Given the description of an element on the screen output the (x, y) to click on. 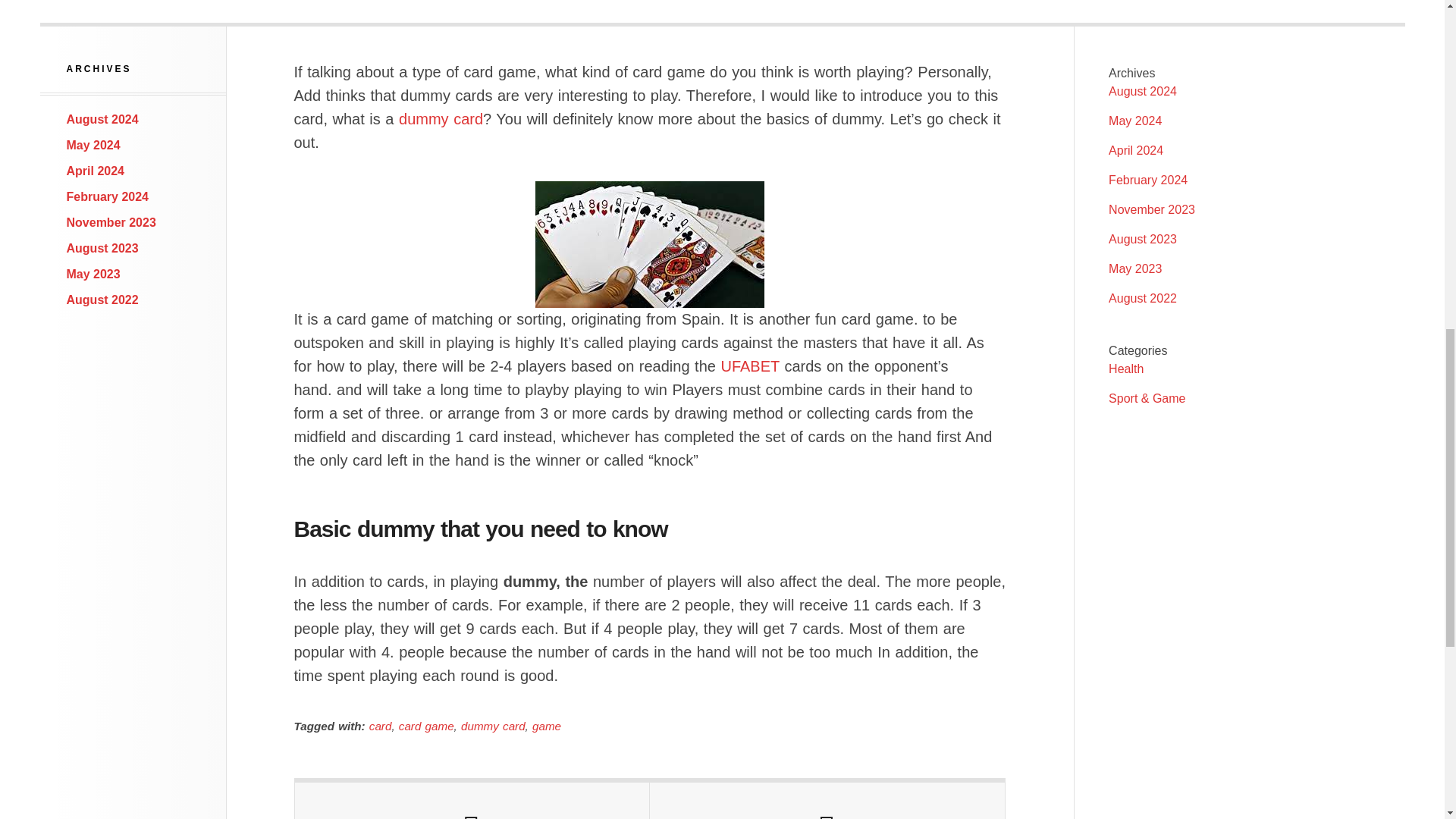
Previous Post (471, 800)
May 2023 (93, 273)
UFABET (749, 365)
February 2024 (107, 196)
April 2024 (94, 170)
August 2023 (102, 247)
February 2024 (1148, 179)
August 2024 (1142, 91)
Health (1125, 368)
August 2022 (1142, 297)
Next Post (826, 800)
game (546, 725)
August 2022 (102, 299)
dummy card (493, 725)
card game (426, 725)
